Given the description of an element on the screen output the (x, y) to click on. 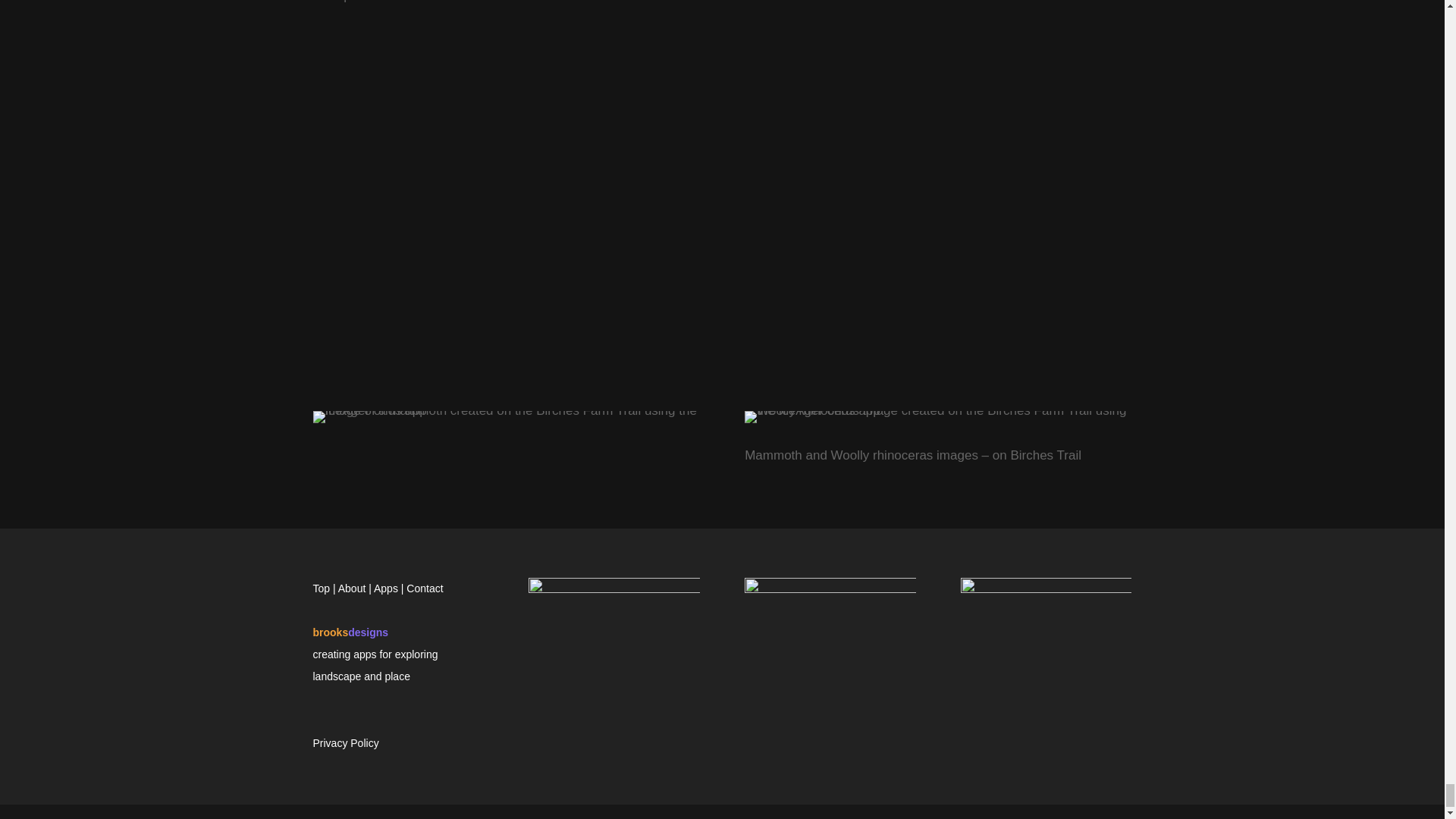
Top (321, 588)
Birches Woolly rhinoceras (937, 417)
Privacy Policy (345, 743)
Apps (385, 588)
Mammoth (505, 417)
About (351, 588)
Contact (424, 588)
